Given the description of an element on the screen output the (x, y) to click on. 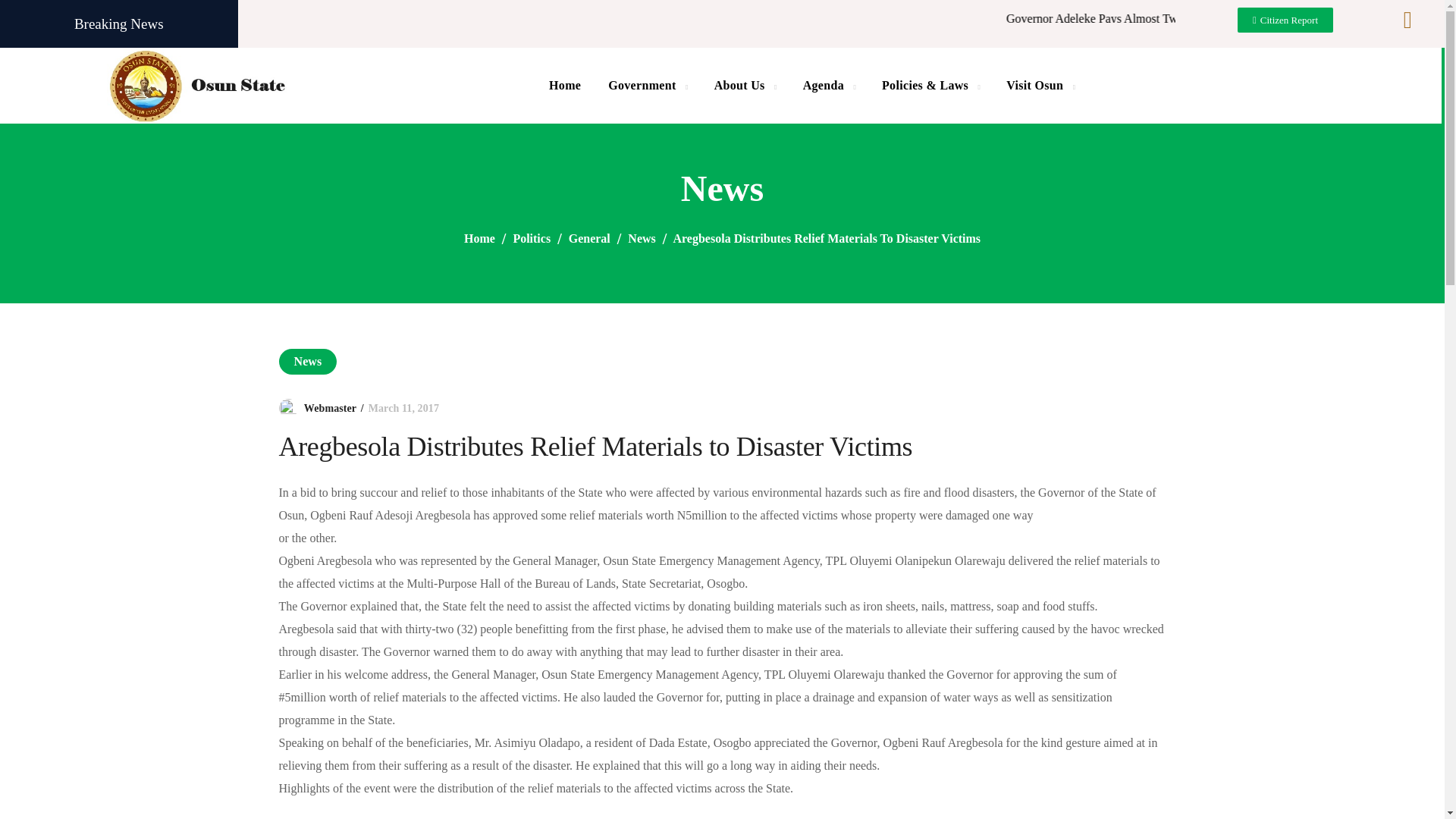
Government (647, 84)
About Us (744, 84)
Citizen Report (1285, 19)
Home (564, 84)
